Given the description of an element on the screen output the (x, y) to click on. 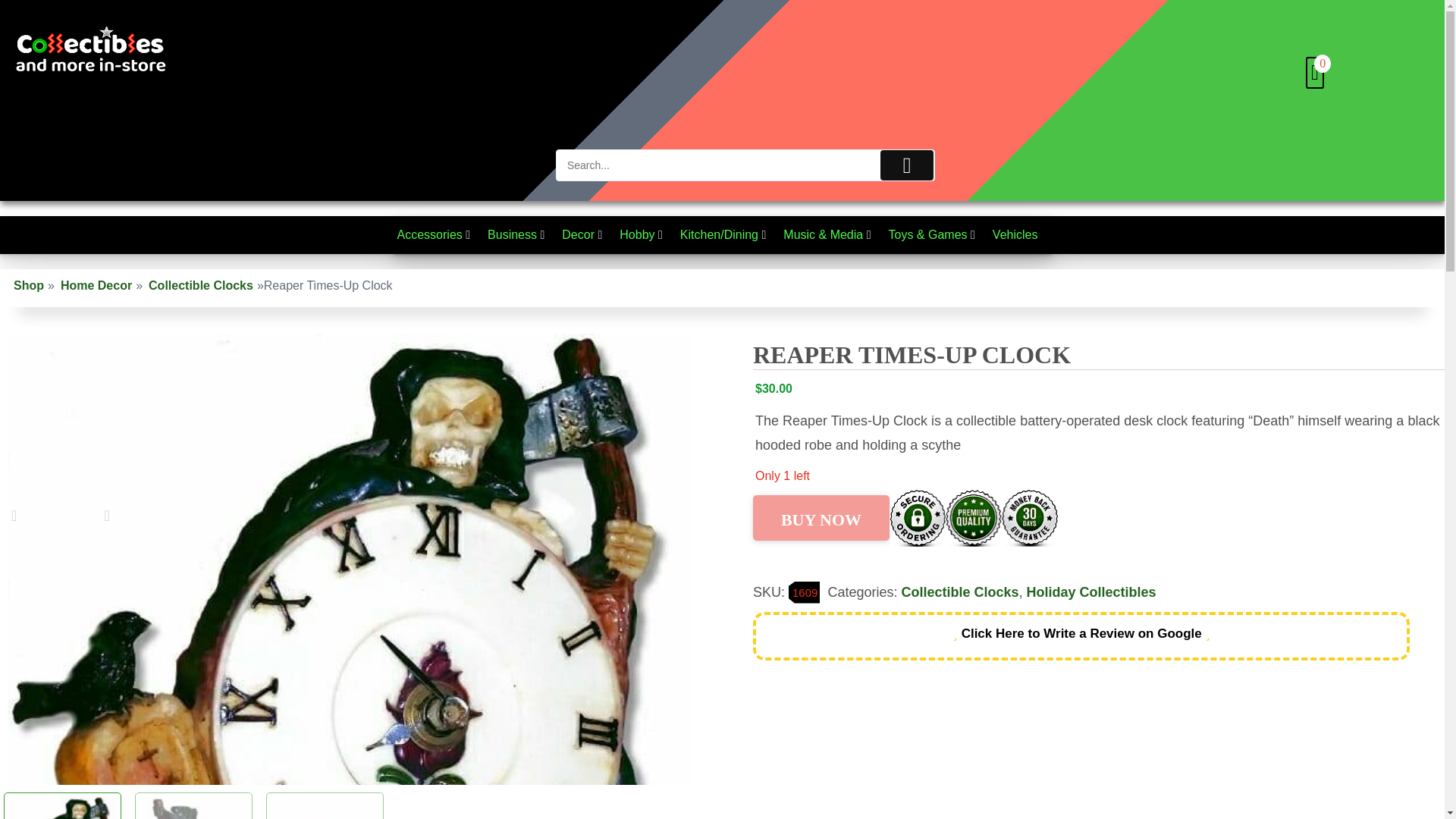
CollectiblesAndMoreInStore Logo Small (90, 49)
Business (519, 234)
Accessories (437, 234)
Accessories (437, 234)
Decor (584, 234)
Hobby (644, 234)
Decor (584, 234)
0 (1314, 74)
Business (519, 234)
View your shopping cart (1314, 74)
Search (745, 164)
Submit (906, 164)
